Given the description of an element on the screen output the (x, y) to click on. 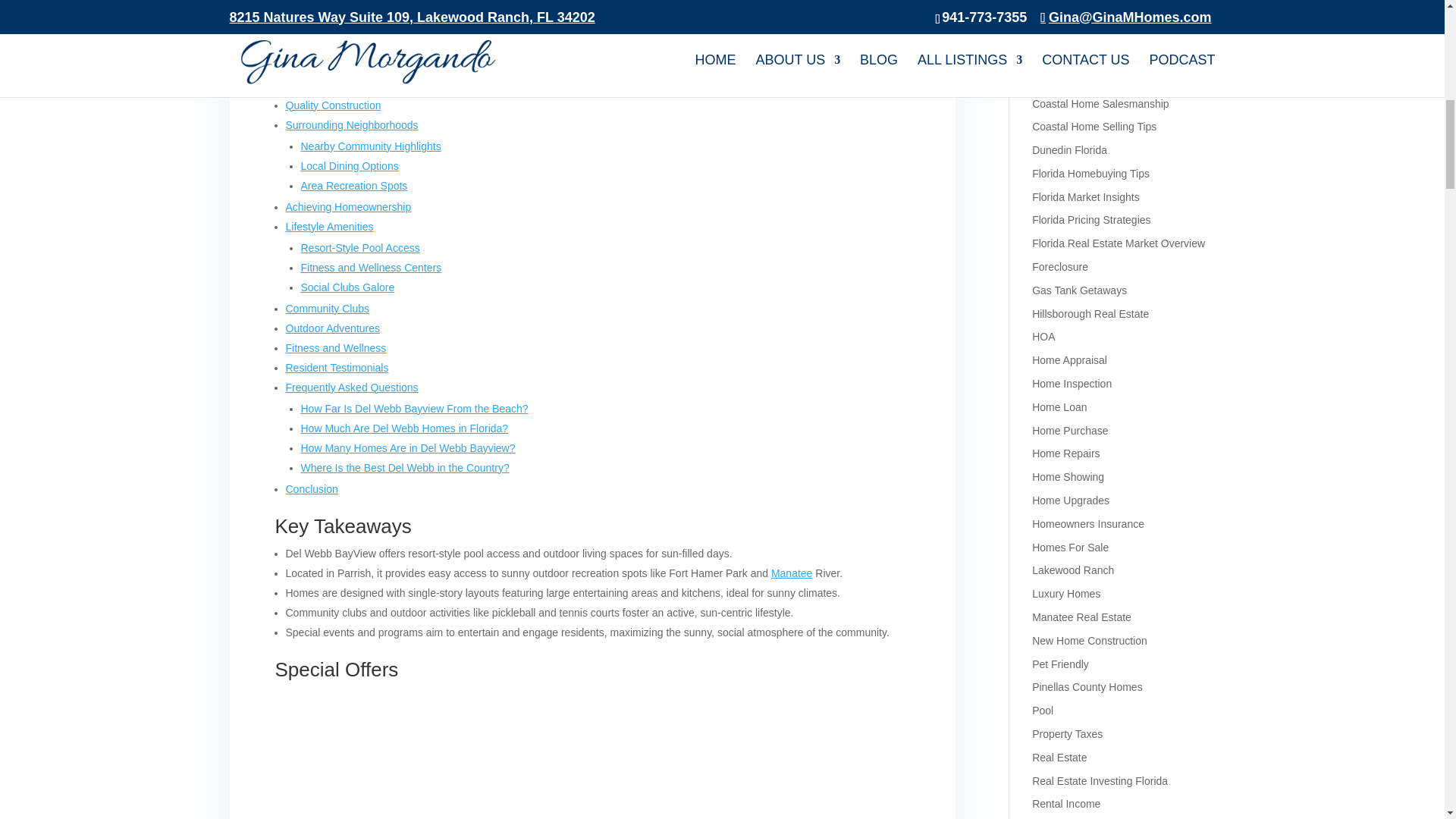
Outdoor Adventures (332, 328)
Exclusive Membership Perks (367, 64)
Lifestyle Amenities (328, 226)
Frequently Asked Questions (351, 387)
YouTube video player (591, 753)
Area Recreation Spots (353, 185)
Achieving Homeownership (347, 206)
Quality Construction (332, 105)
Community Clubs (326, 308)
Fitness and Wellness Centers (370, 267)
